Given the description of an element on the screen output the (x, y) to click on. 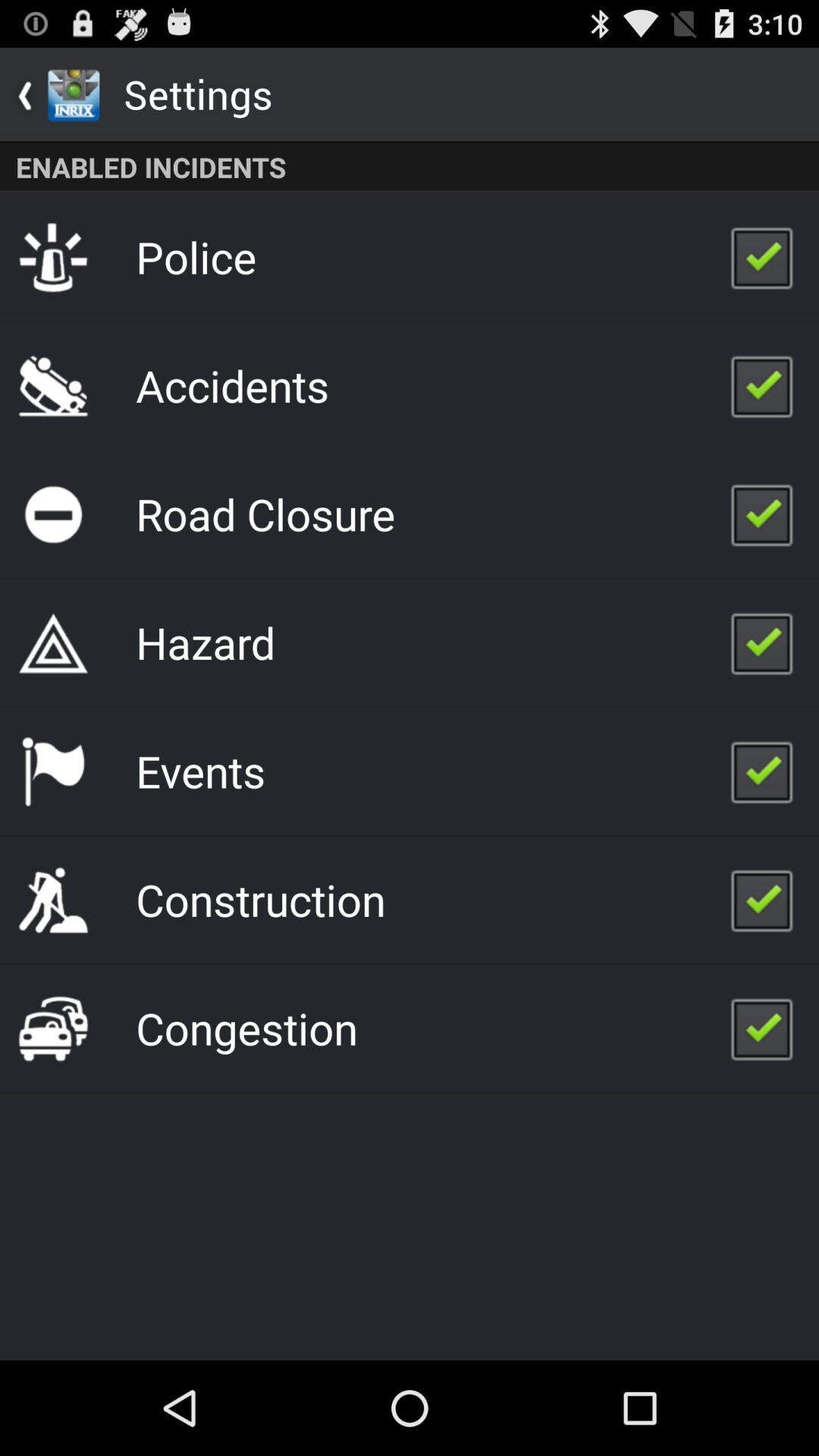
tap app above the congestion item (260, 899)
